Given the description of an element on the screen output the (x, y) to click on. 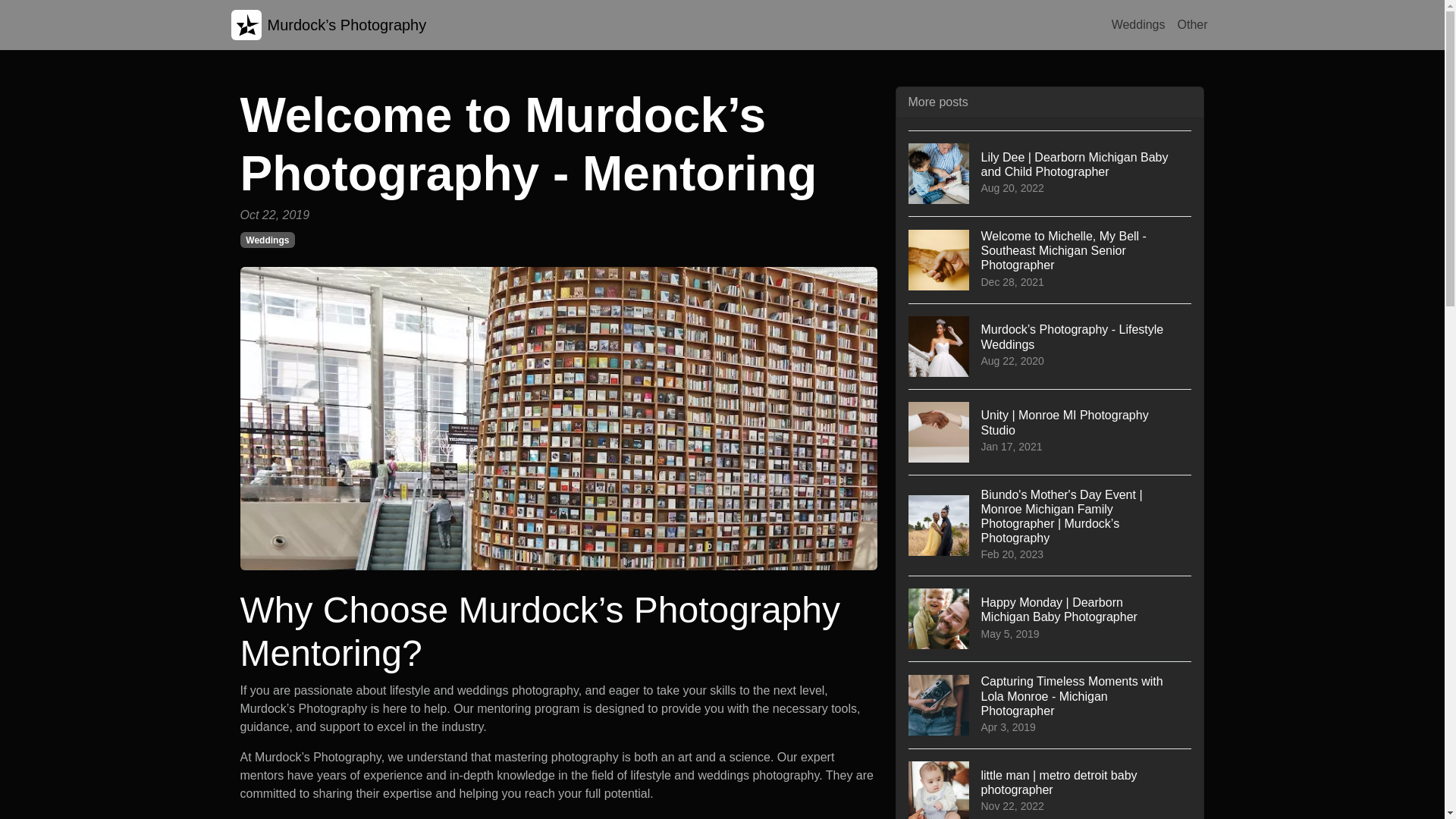
Weddings (1138, 24)
Other (1191, 24)
Weddings (267, 239)
